Given the description of an element on the screen output the (x, y) to click on. 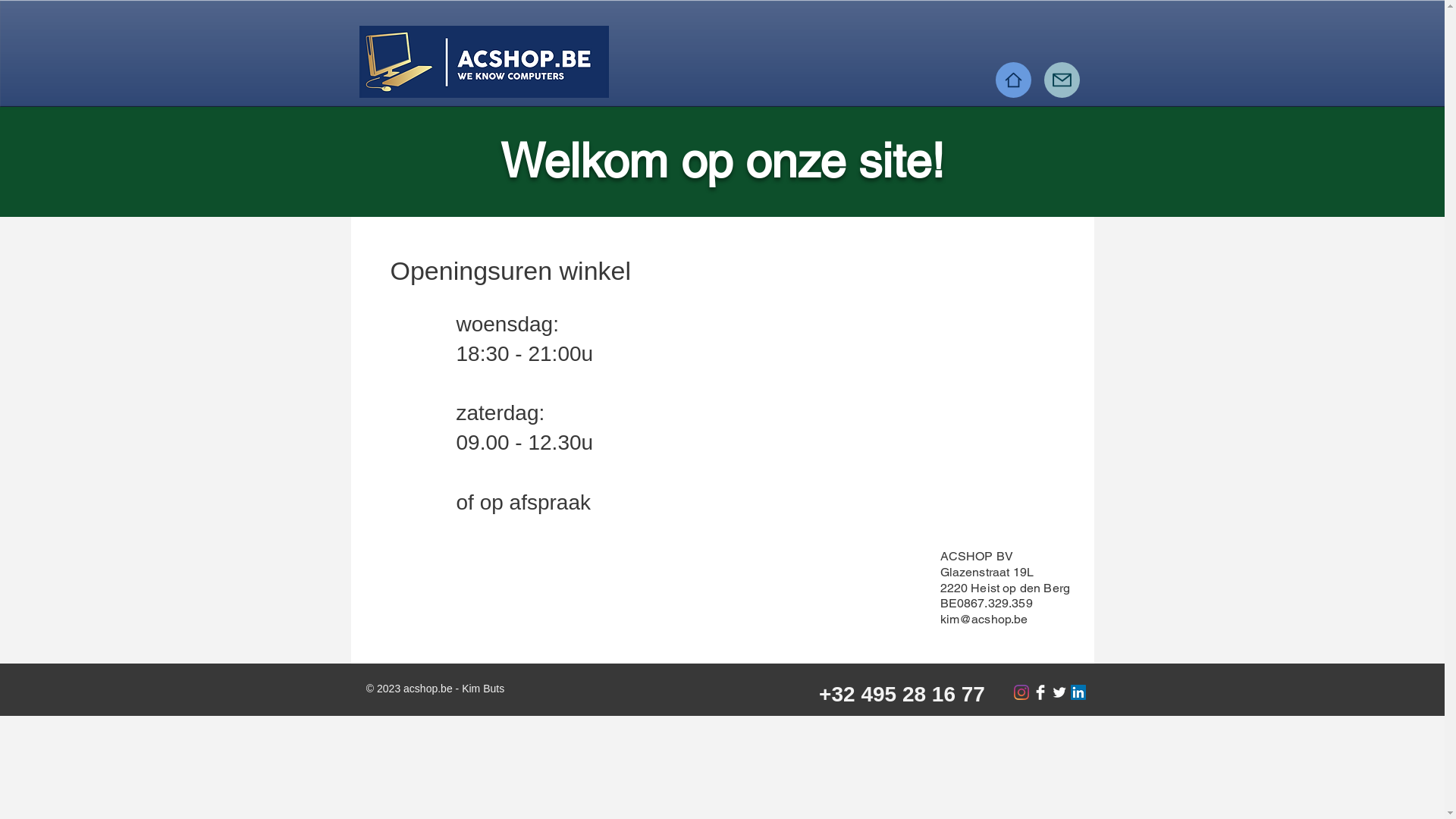
Color logo with background.png Element type: hover (483, 61)
kim@acshop.be Element type: text (984, 618)
